Given the description of an element on the screen output the (x, y) to click on. 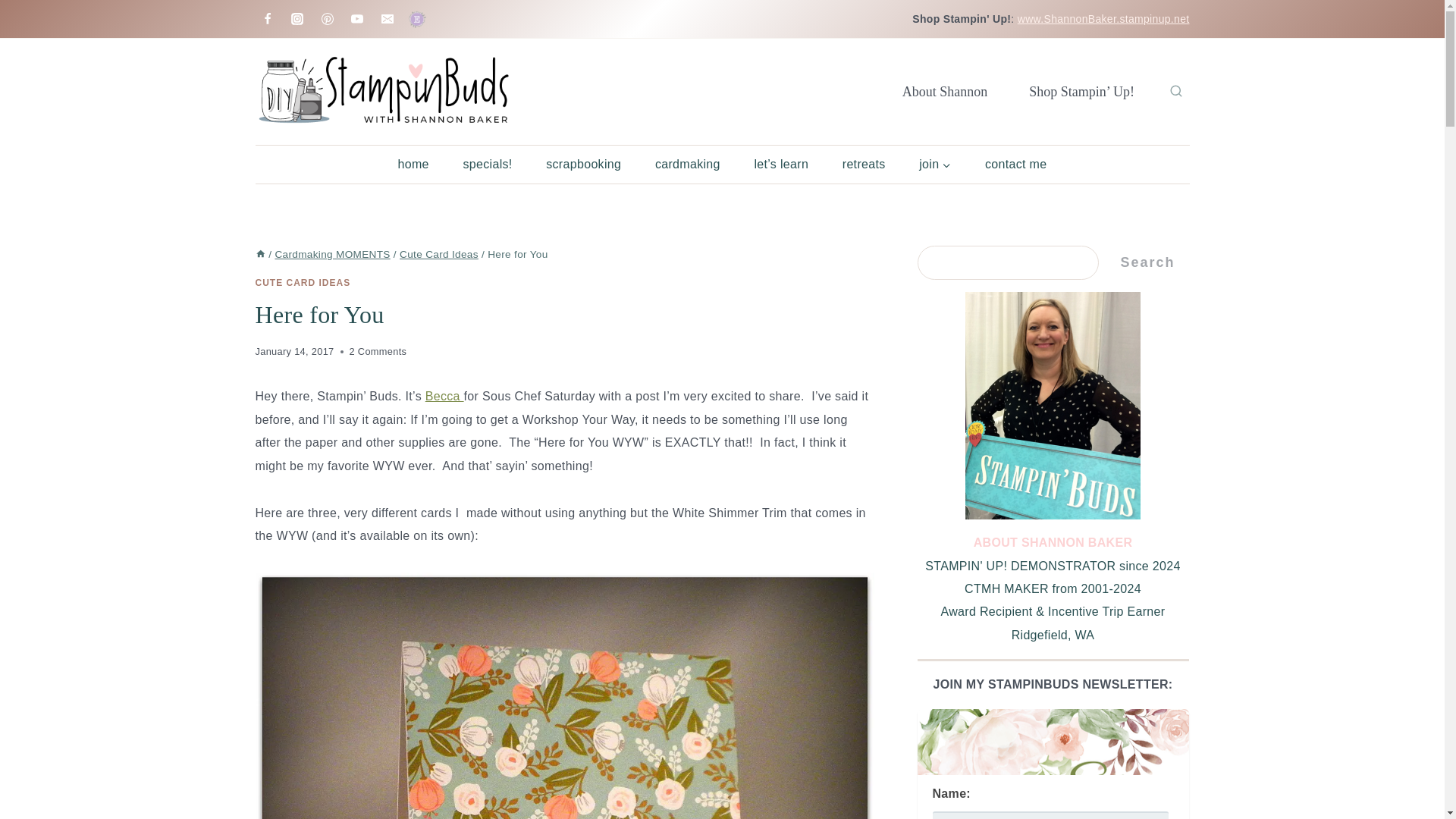
Cardmaking MOMENTS (332, 254)
www.ShannonBaker.stampinup.net (1103, 19)
cardmaking (688, 164)
2 Comments (378, 352)
join (935, 164)
2 Comments (378, 352)
Cute Card Ideas (438, 254)
contact me (1016, 164)
Home (259, 254)
specials! (487, 164)
Becca (444, 395)
home (412, 164)
CUTE CARD IDEAS (302, 282)
retreats (863, 164)
About Shannon (945, 91)
